Given the description of an element on the screen output the (x, y) to click on. 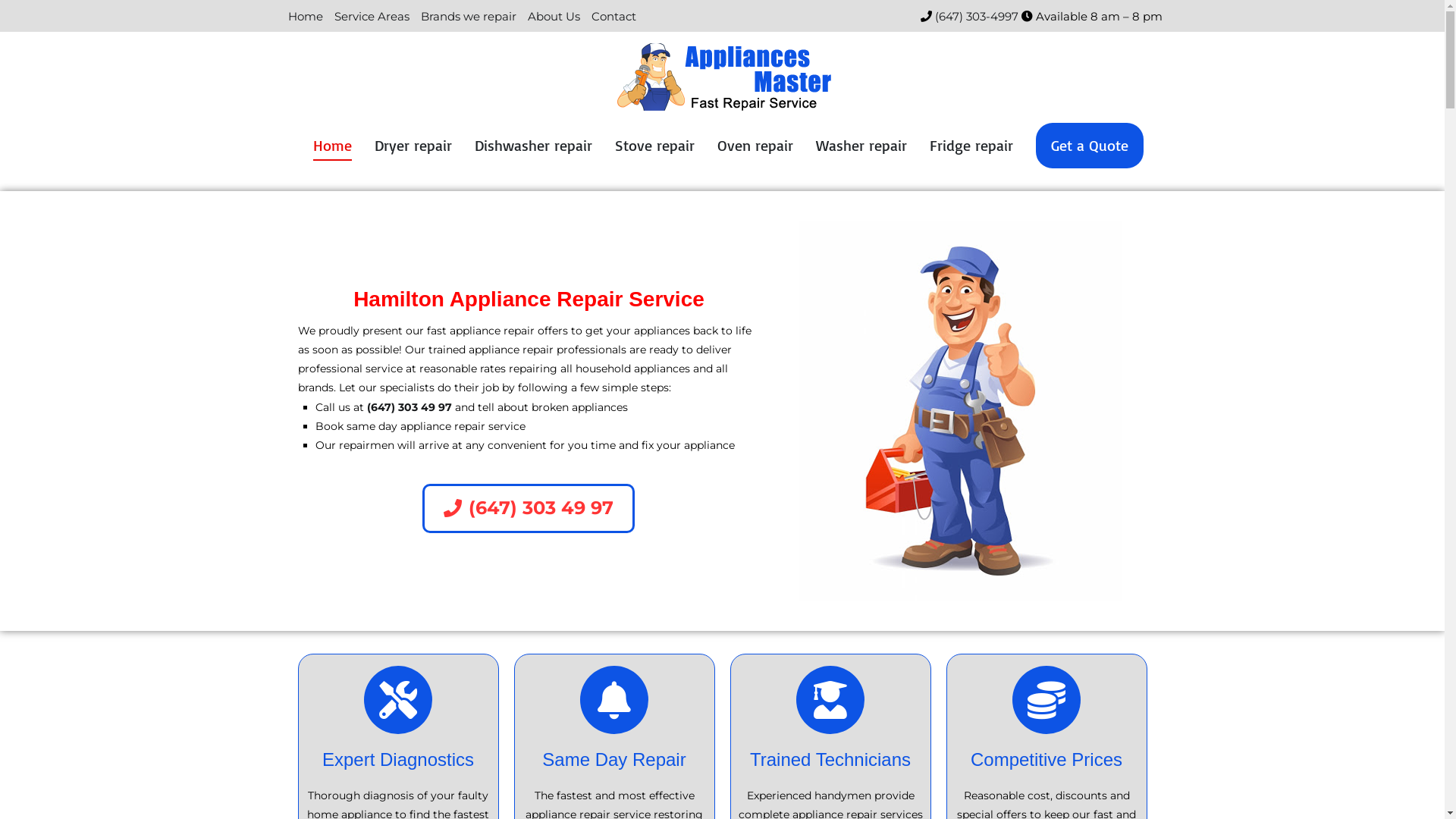
(647) 303-4997 Element type: text (974, 16)
Service Areas Element type: text (372, 16)
Washer repair Element type: text (860, 145)
Dishwasher repair Element type: text (533, 145)
Home Element type: text (305, 16)
AppliancesMaster.ca Element type: text (787, 121)
Home Element type: text (331, 145)
Stove repair Element type: text (653, 145)
Fridge repair Element type: text (971, 145)
Get a Quote Element type: text (1089, 145)
Contact Element type: text (613, 16)
Dryer repair Element type: text (412, 145)
(647) 303 49 97 Element type: text (528, 508)
(647) 303 49 97 Element type: text (409, 407)
Brands we repair Element type: text (468, 16)
About Us Element type: text (553, 16)
Oven repair Element type: text (755, 145)
